Given the description of an element on the screen output the (x, y) to click on. 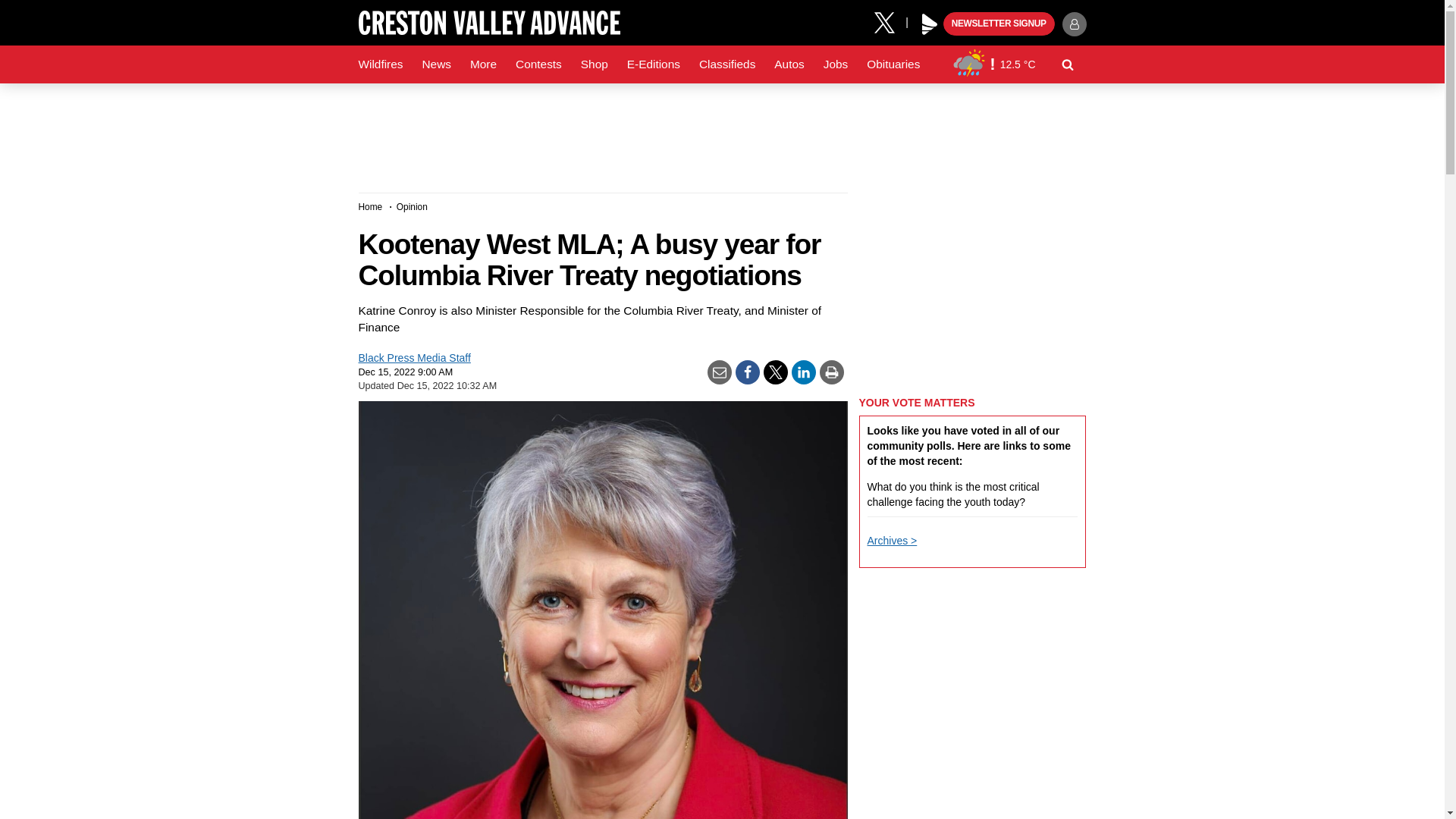
X (889, 21)
Play (929, 24)
Black Press Media (929, 24)
NEWSLETTER SIGNUP (998, 24)
Wildfires (380, 64)
News (435, 64)
